Given the description of an element on the screen output the (x, y) to click on. 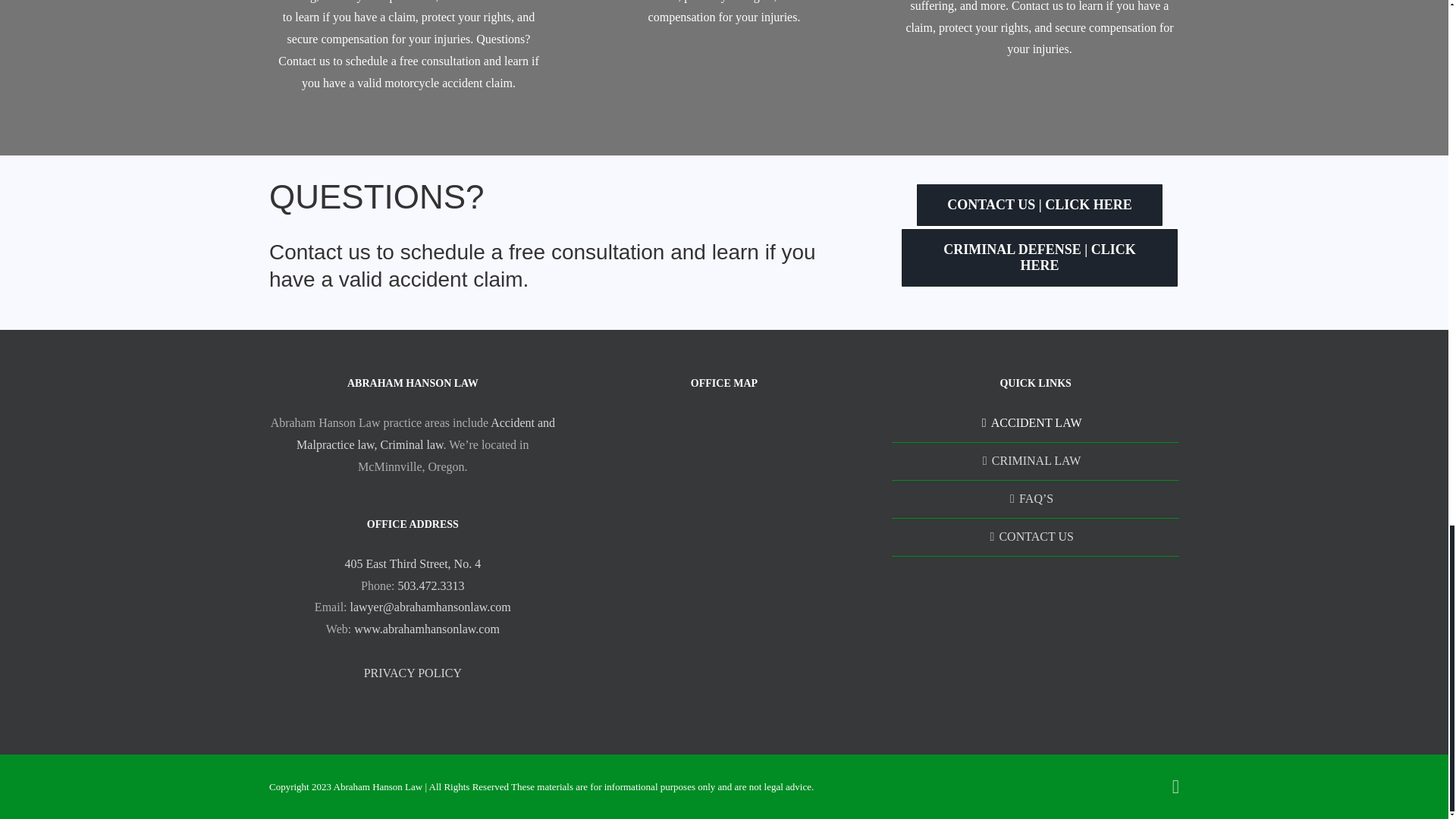
ACCIDENT LAW (1036, 423)
405 East Third Street, No. 4 (411, 563)
CRIMINAL LAW (1036, 461)
www.abrahamhansonlaw.com (426, 628)
PRIVACY POLICY (412, 672)
CONTACT US (1036, 536)
Accident and Malpractice law, Criminal law (425, 433)
503.472.3313 (430, 585)
Facebook (1175, 786)
